Given the description of an element on the screen output the (x, y) to click on. 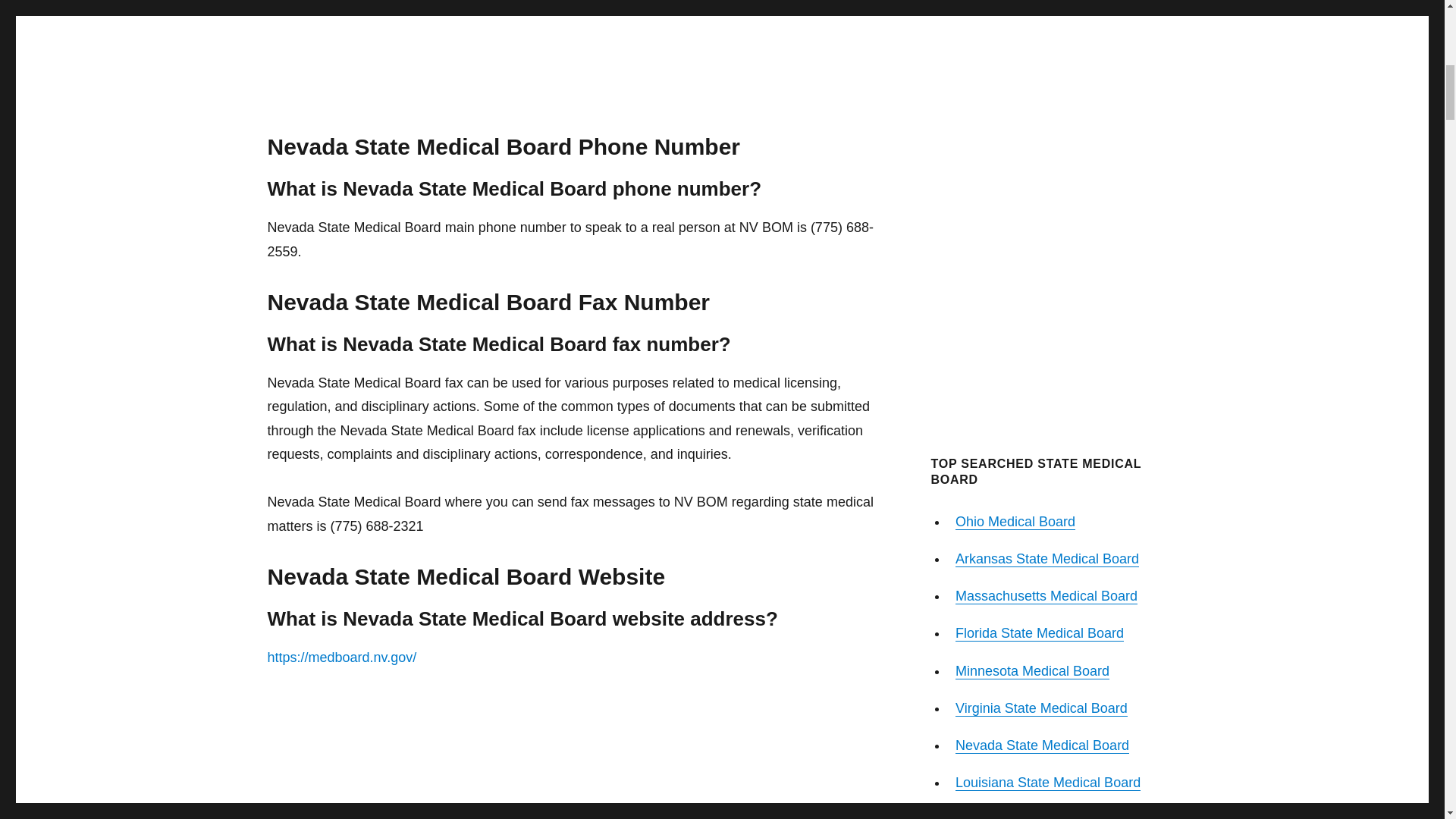
Oklahoma State Medical Board (1049, 815)
Florida State Medical Board (1039, 632)
Louisiana State Medical Board (1047, 782)
Virginia State Medical Board (1040, 708)
Minnesota Medical Board (1032, 670)
Ohio Medical Board (1015, 521)
Massachusetts Medical Board (1046, 595)
Nevada State Medical Board (1042, 744)
Arkansas State Medical Board (1046, 558)
